Given the description of an element on the screen output the (x, y) to click on. 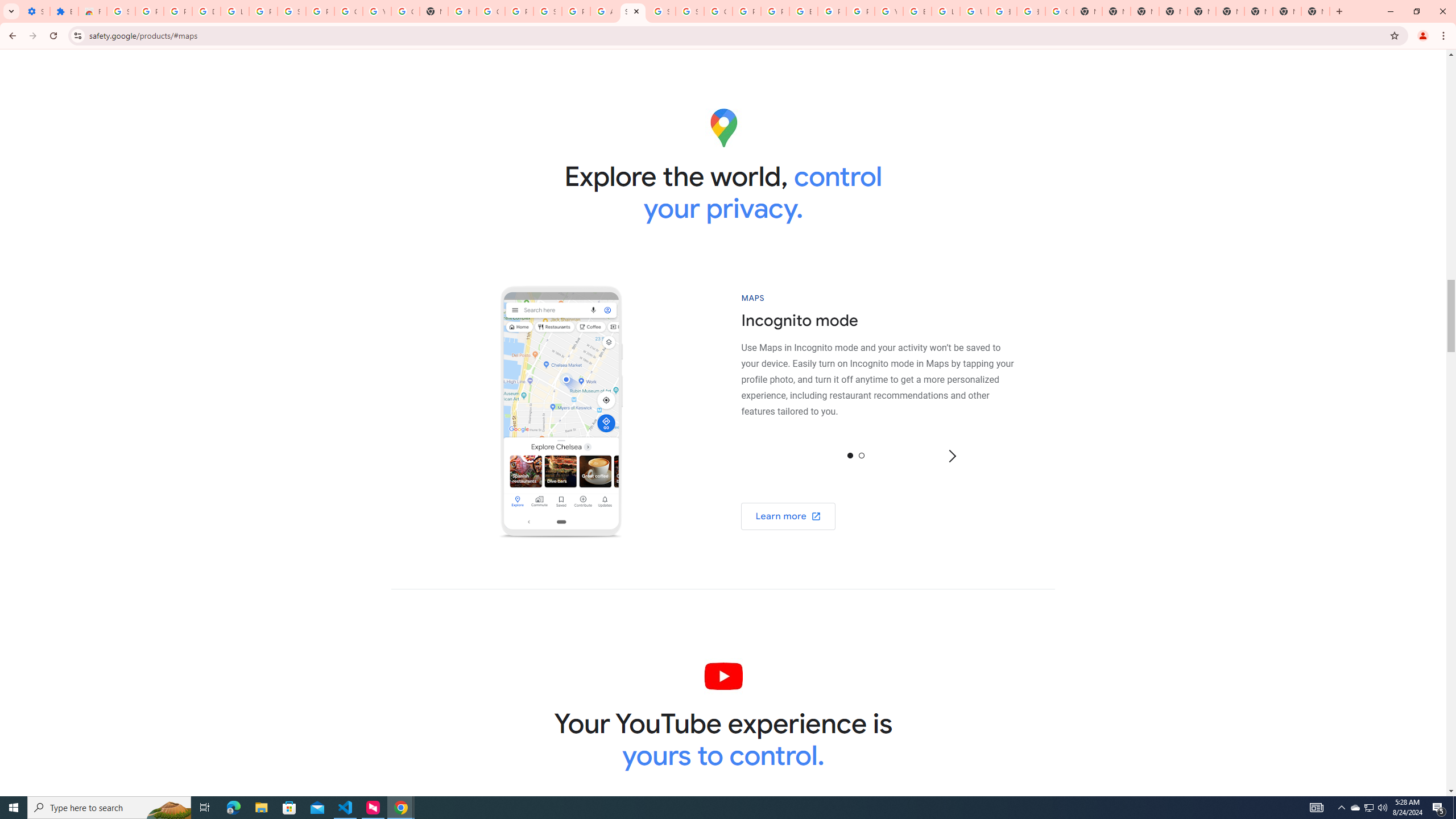
Extensions (63, 11)
New Tab (1315, 11)
Sign in - Google Accounts (547, 11)
Settings - On startup (35, 11)
Learn more about Maps (788, 515)
Privacy Help Center - Policies Help (774, 11)
0 (850, 454)
A phone featuring Maps (561, 411)
Safety in Our Products - Google Safety Center (632, 11)
